Given the description of an element on the screen output the (x, y) to click on. 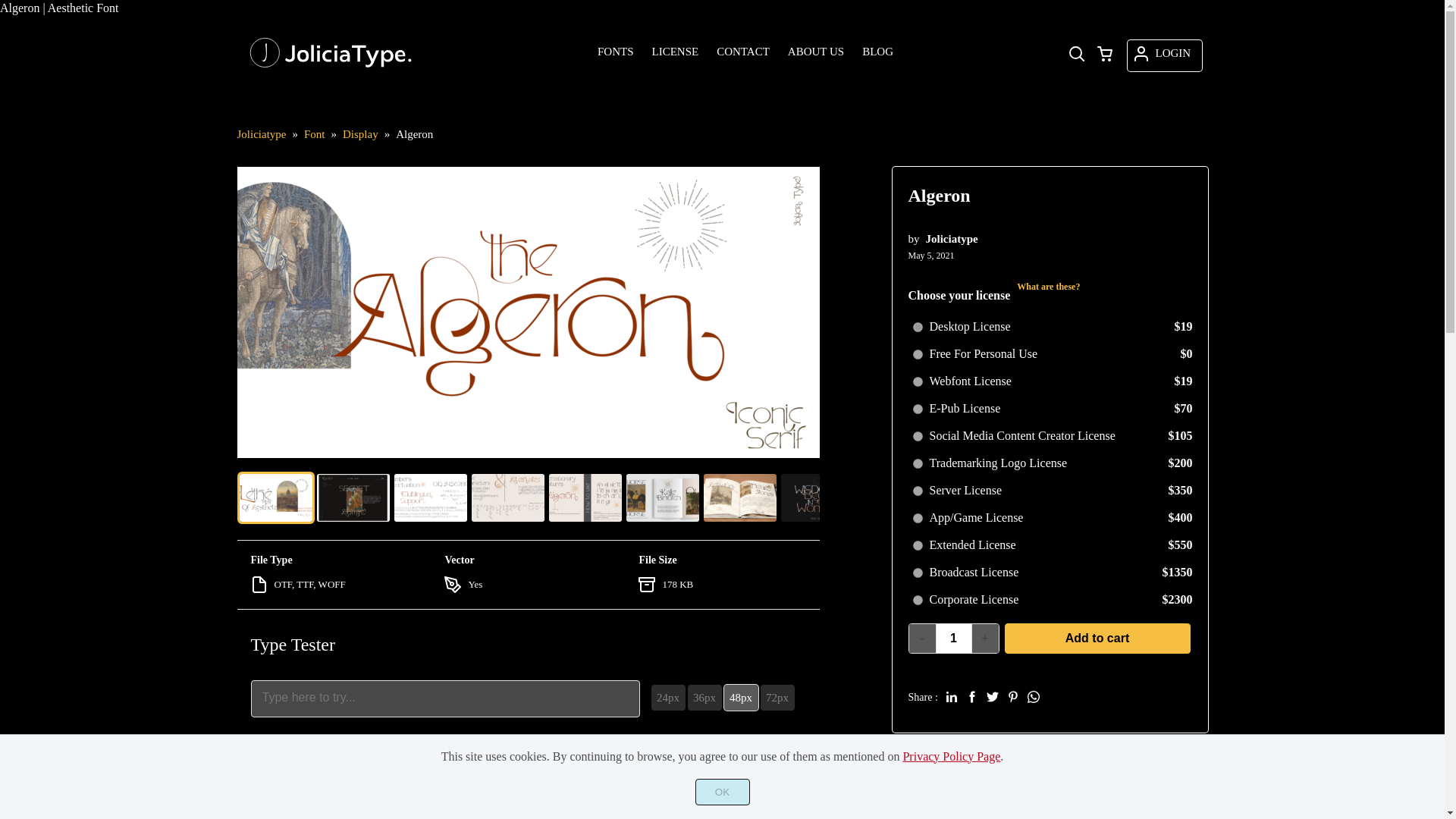
Login to Customer Account (1163, 55)
Font (314, 133)
- (922, 638)
ABOUT US (815, 51)
BLOG (877, 51)
Tweet it! (991, 696)
E-Pub License (917, 409)
Corporate License (917, 600)
Go to License Page (1048, 286)
FONTS (615, 51)
